Given the description of an element on the screen output the (x, y) to click on. 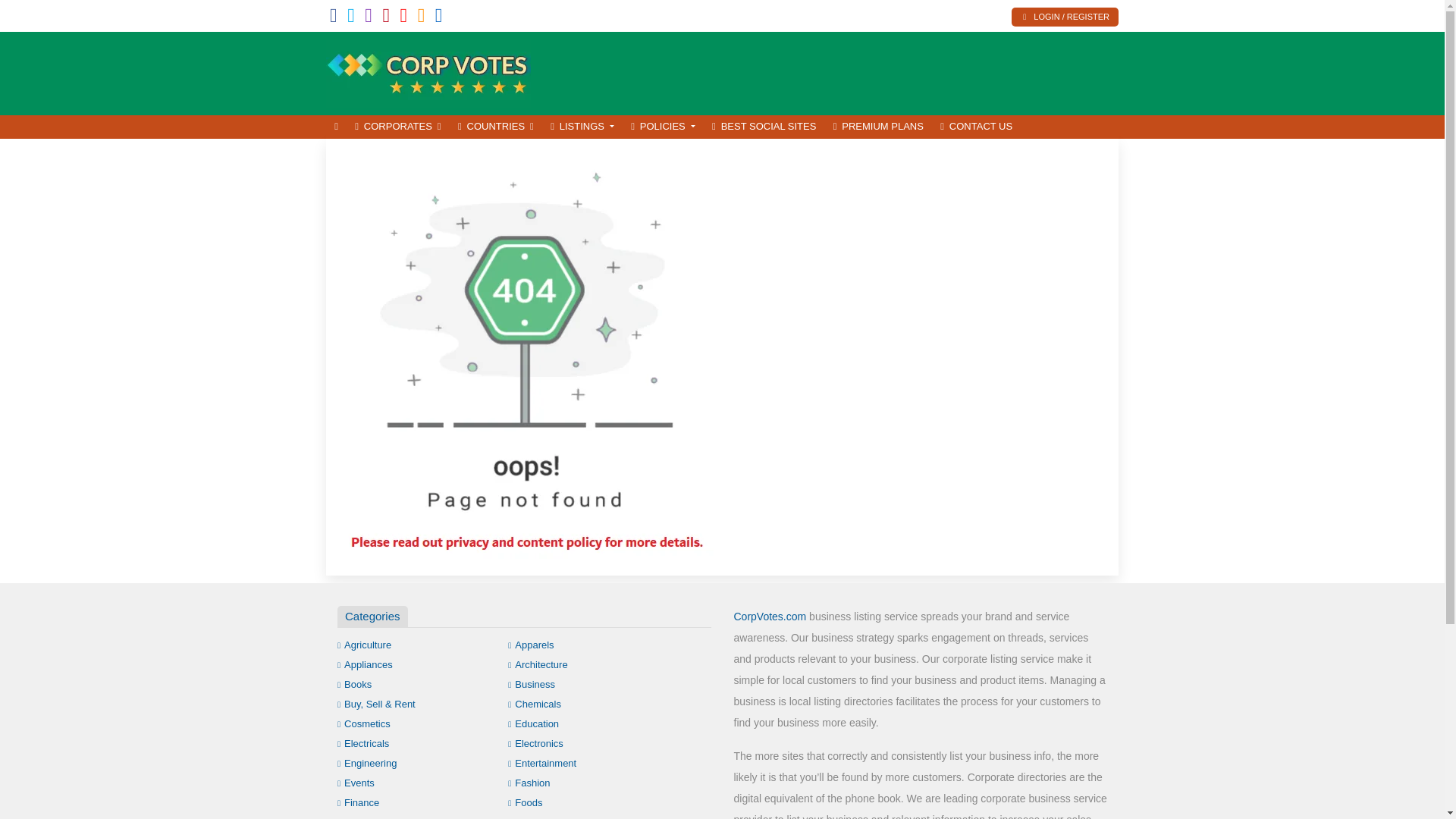
CORPORATES (397, 126)
COUNTRIES (495, 126)
Drive Traffic of Most Voted Corporate Bookmarks to Internet (428, 71)
